Given the description of an element on the screen output the (x, y) to click on. 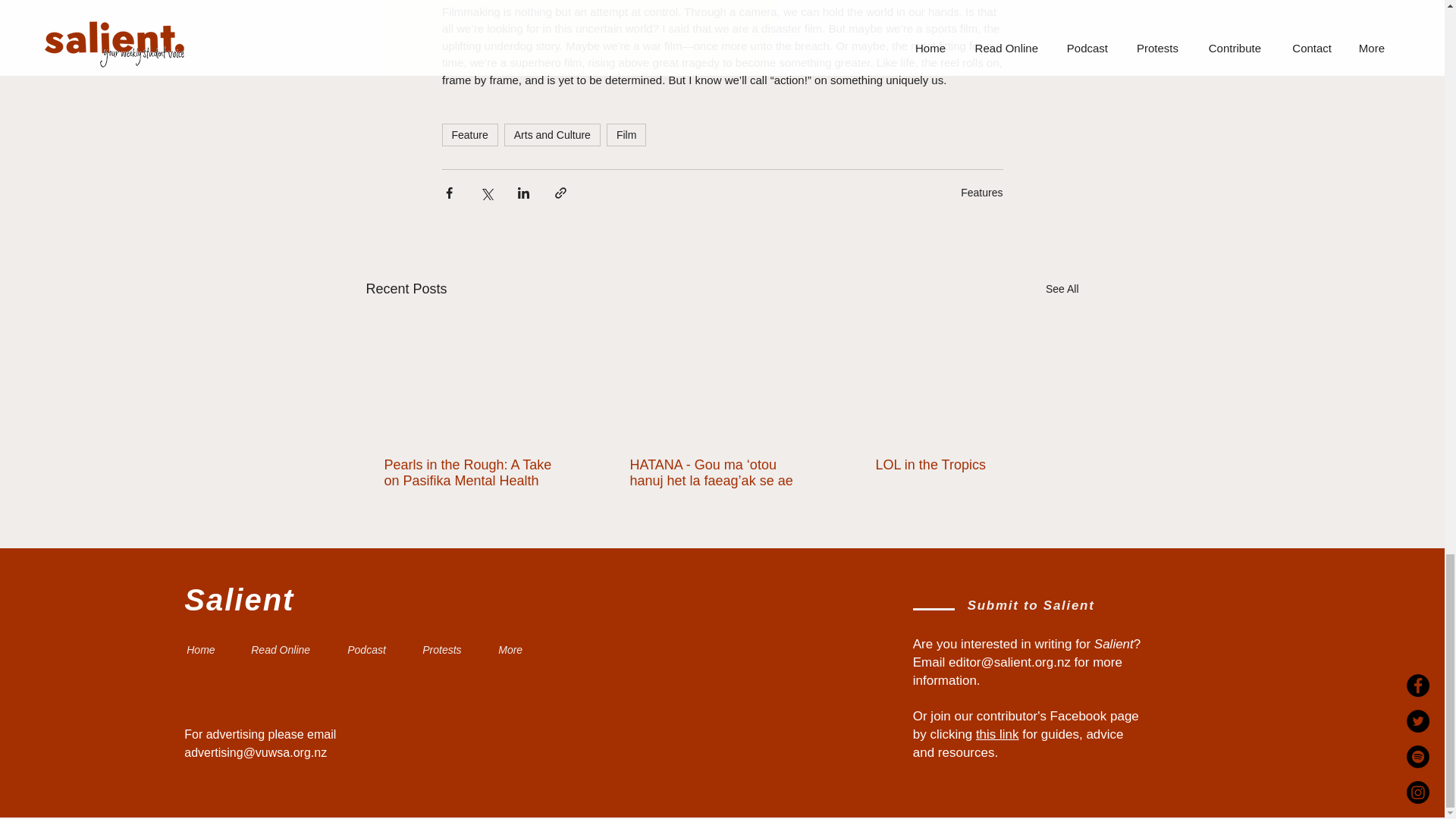
Feature (469, 134)
Film (626, 134)
Features (981, 191)
LOL in the Tropics (966, 465)
Arts and Culture (551, 134)
Pearls in the Rough: A Take on Pasifika Mental Health (475, 472)
See All (1061, 289)
Salient (239, 599)
